Given the description of an element on the screen output the (x, y) to click on. 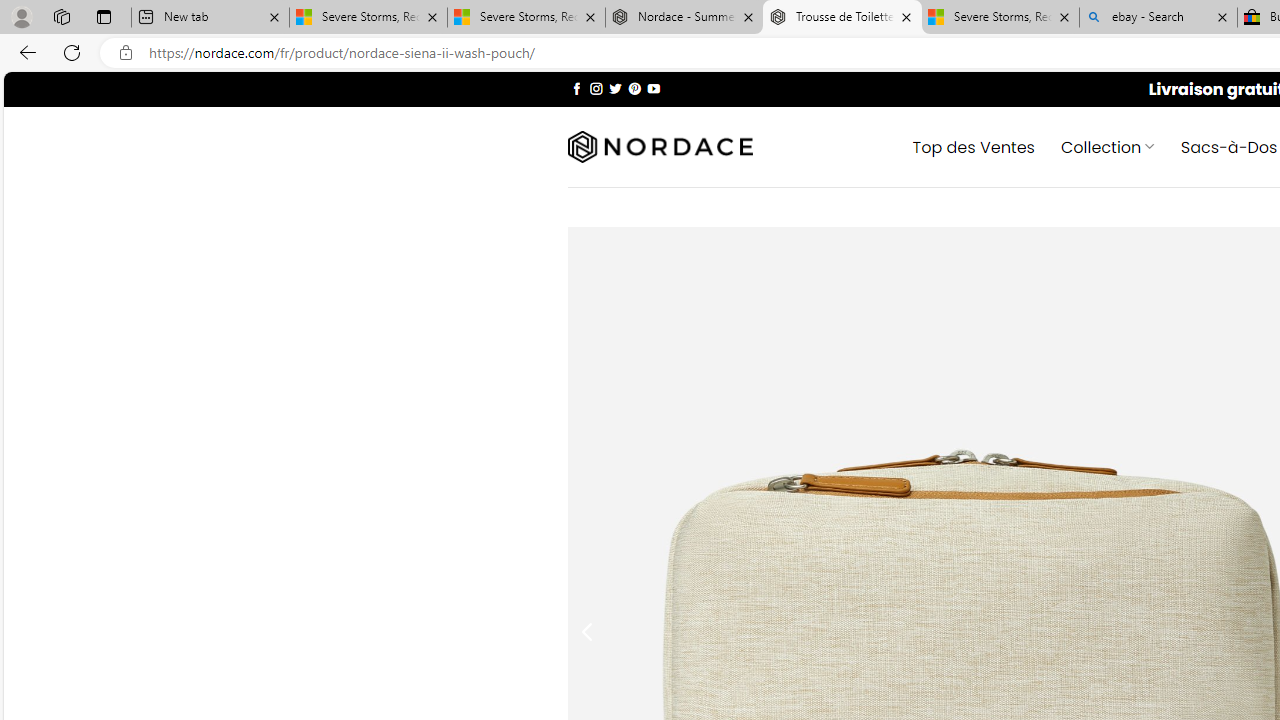
Trousse de Toilette Nordace Siena Pro (842, 17)
  Top des Ventes (973, 146)
ebay - Search (1158, 17)
Nous suivre sur Instagram (596, 88)
Nous suivre sur Pinterest (634, 88)
Nous suivre sur Facebook (576, 88)
